Given the description of an element on the screen output the (x, y) to click on. 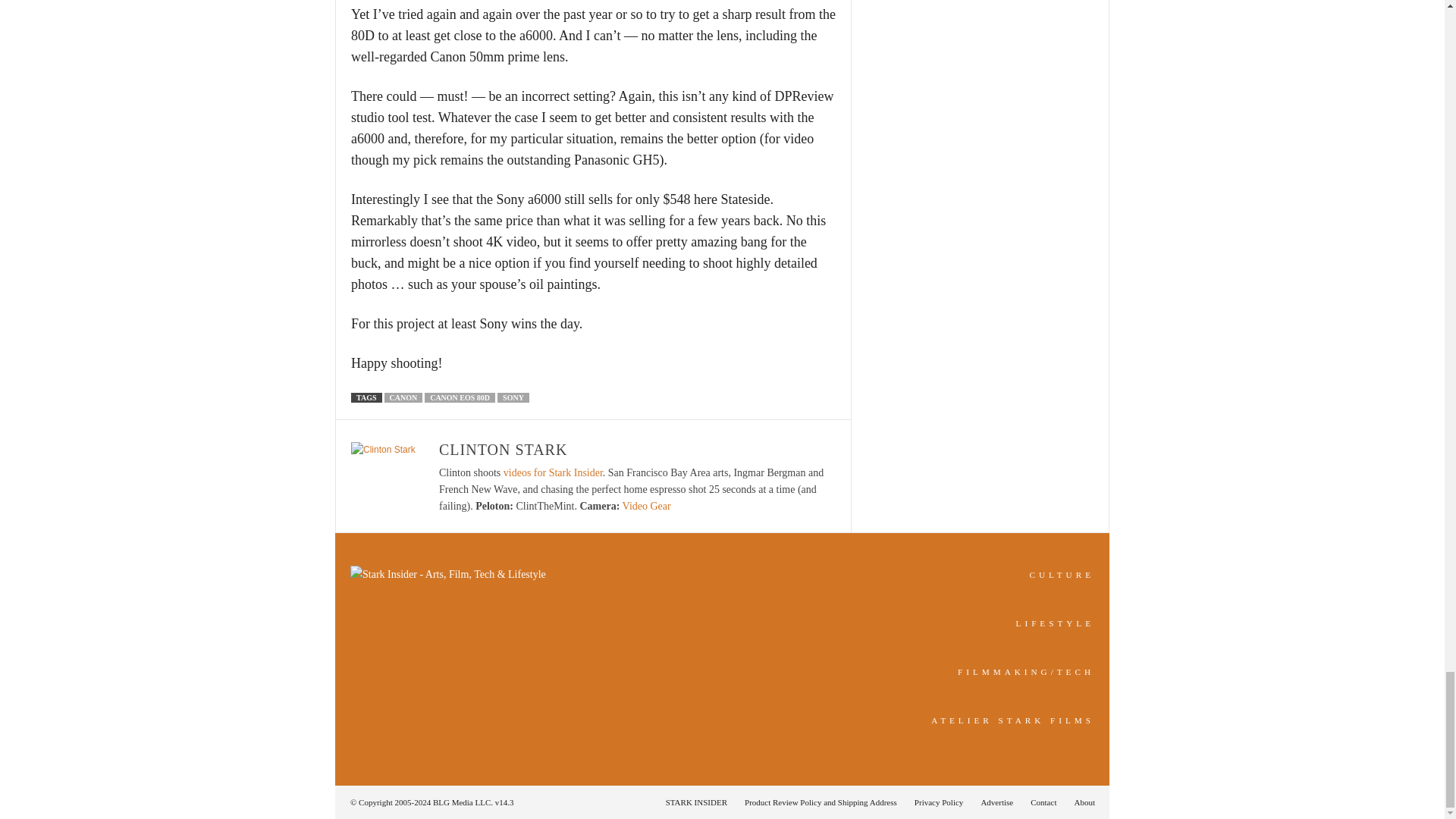
SONY (513, 397)
CLINTON STARK (503, 449)
CANON EOS 80D (460, 397)
Video Gear (647, 505)
Privacy Policy (939, 801)
LIFESTYLE (1055, 623)
ATELIER STARK FILMS (1012, 719)
Advertise (996, 801)
CANON (403, 397)
videos for Stark Insider (552, 472)
Product Review Policy and Shipping Address (820, 801)
CULTURE (1061, 574)
STARK INSIDER (696, 801)
Contact (1043, 801)
